Given the description of an element on the screen output the (x, y) to click on. 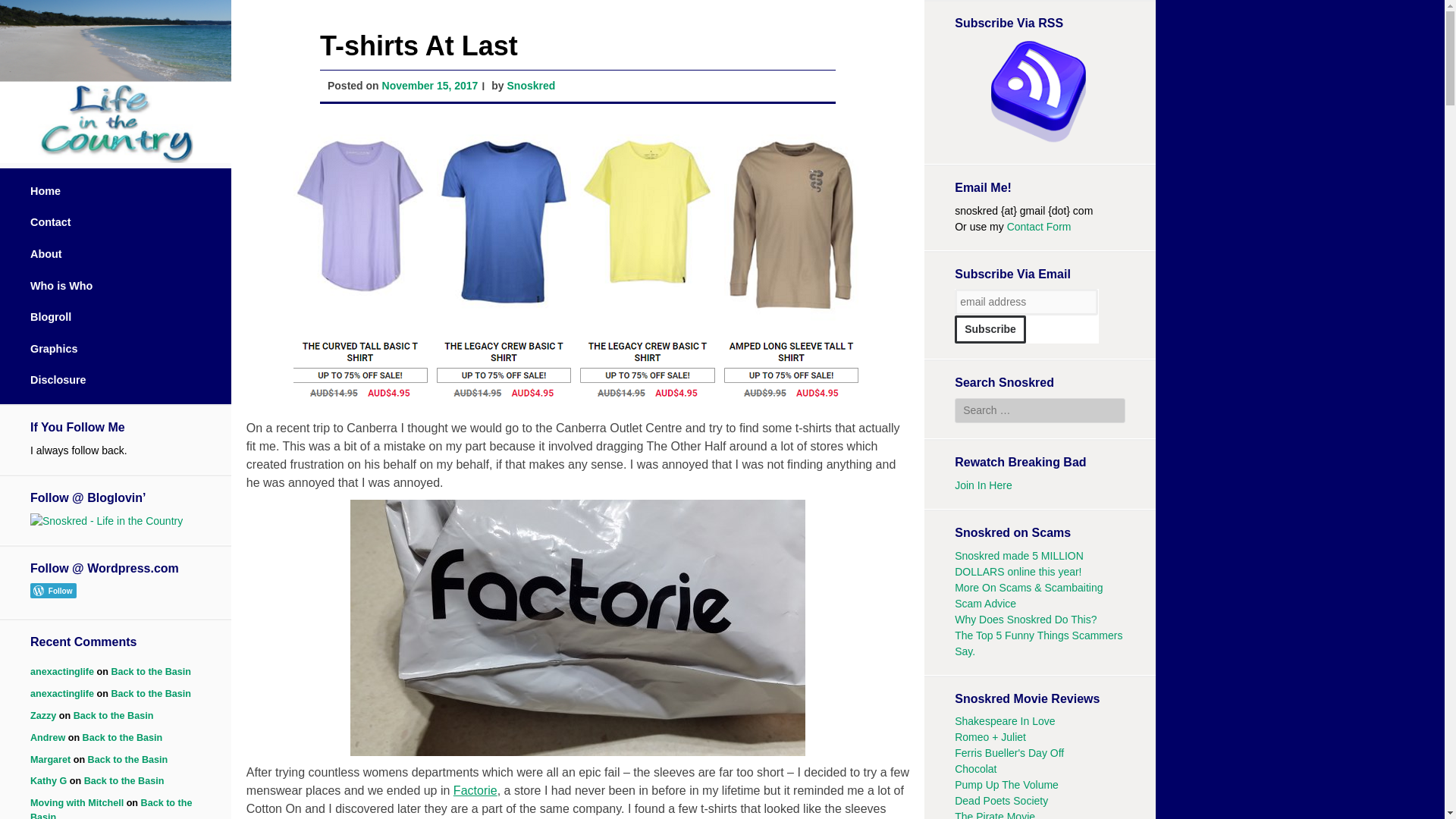
Subscribe (990, 329)
